Given the description of an element on the screen output the (x, y) to click on. 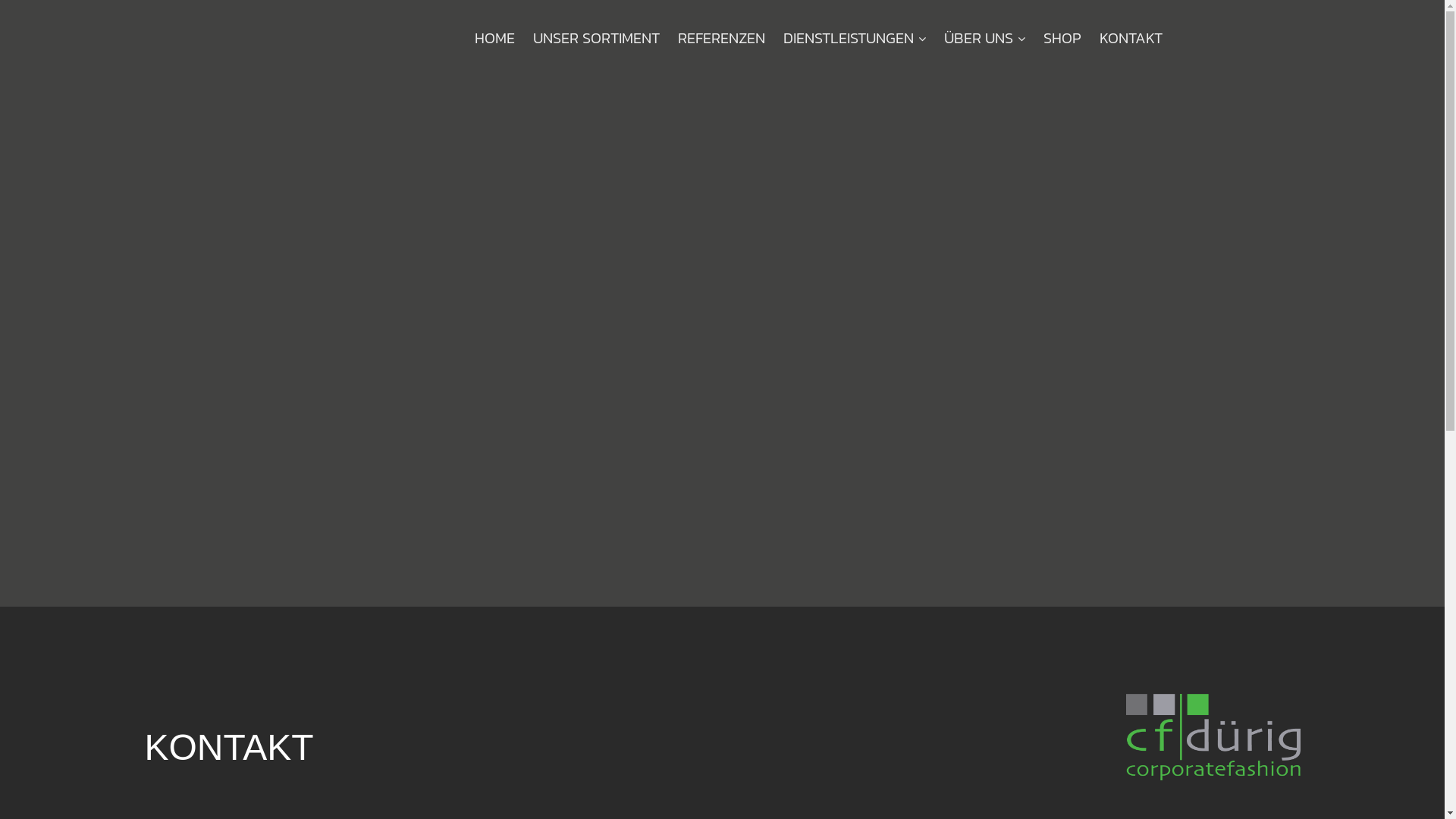
DIENSTLEISTUNGEN Element type: text (854, 37)
HOME Element type: text (494, 37)
UNSER SORTIMENT Element type: text (596, 37)
KONTAKT Element type: text (1130, 37)
SHOP Element type: text (1062, 37)
REFERENZEN Element type: text (721, 37)
